Given the description of an element on the screen output the (x, y) to click on. 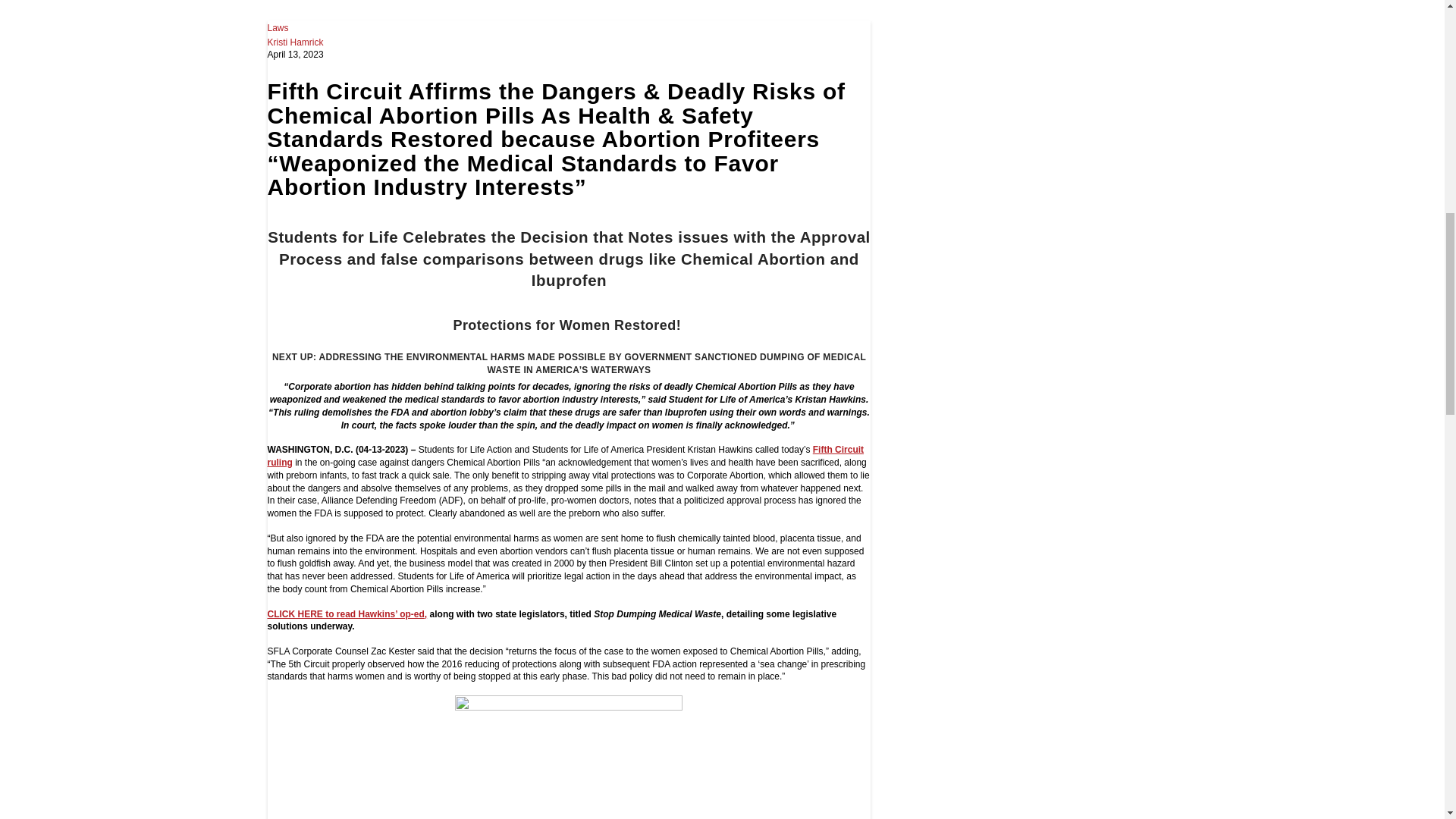
Kristi Hamrick (294, 41)
Fifth Circuit ruling (564, 455)
Laws (277, 27)
